Given the description of an element on the screen output the (x, y) to click on. 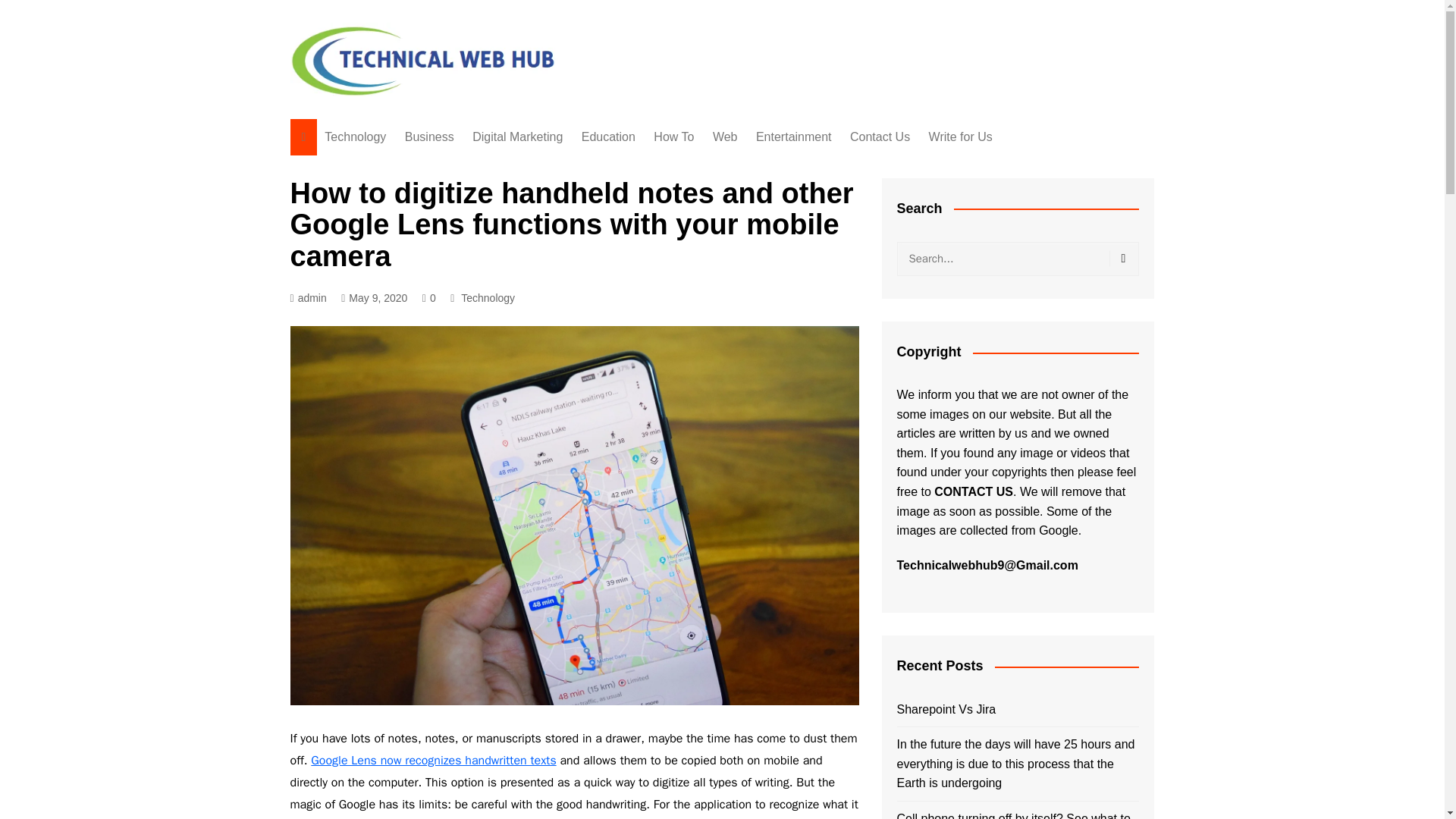
Contact Us (880, 136)
Entertainment (794, 136)
Google Lens now recognizes handwritten texts (433, 760)
Digital Marketing (517, 136)
May 9, 2020 (373, 298)
How To (673, 136)
0 (428, 298)
Technology (488, 297)
Web (724, 136)
Technology (355, 136)
Education (608, 136)
Write for Us (960, 136)
admin (307, 298)
